Given the description of an element on the screen output the (x, y) to click on. 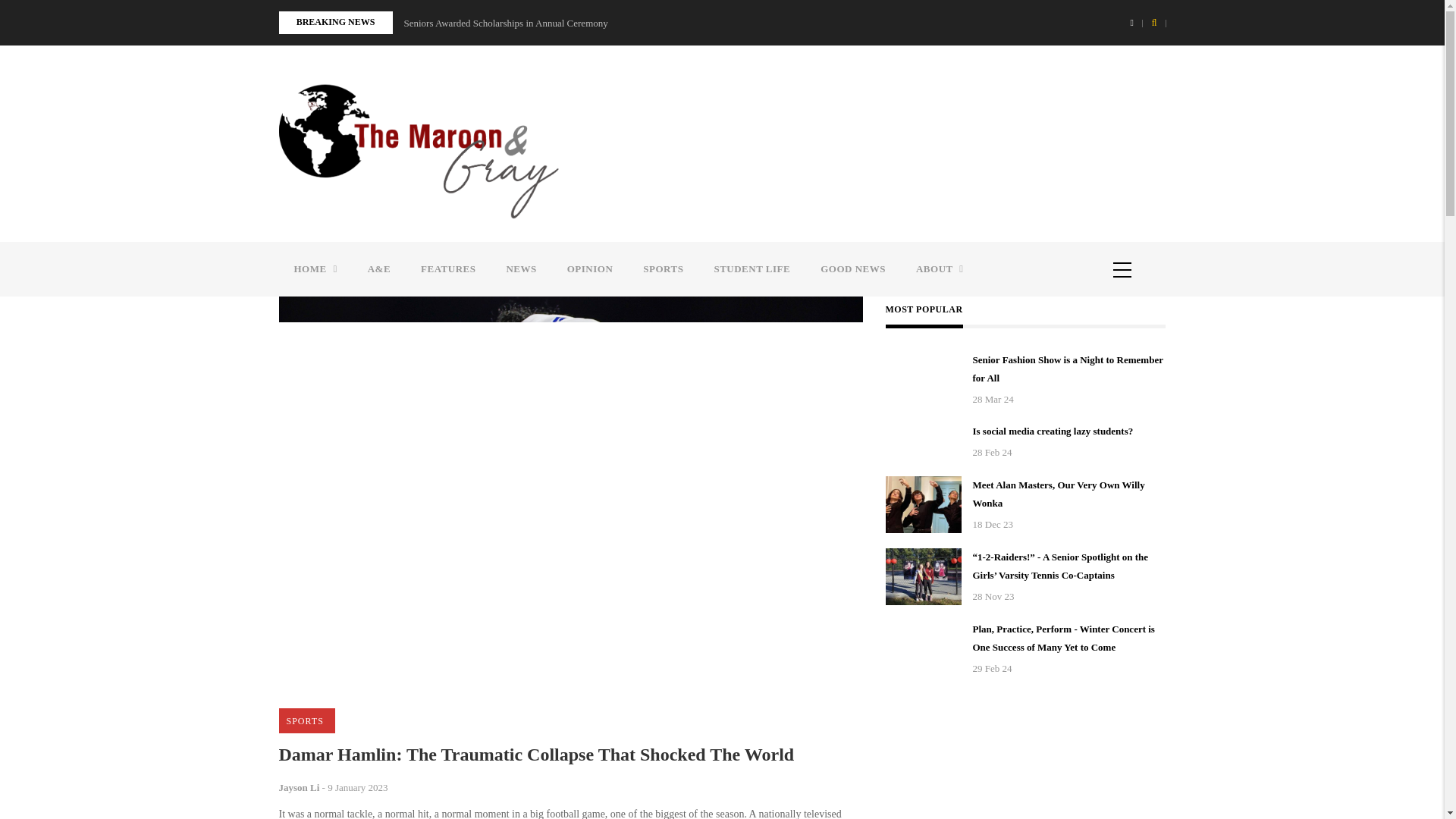
HOME (315, 268)
Seniors Awarded Scholarships in Annual Ceremony (505, 23)
View user profile. (299, 787)
Home (419, 150)
Search (752, 421)
Log in (1047, 202)
